Given the description of an element on the screen output the (x, y) to click on. 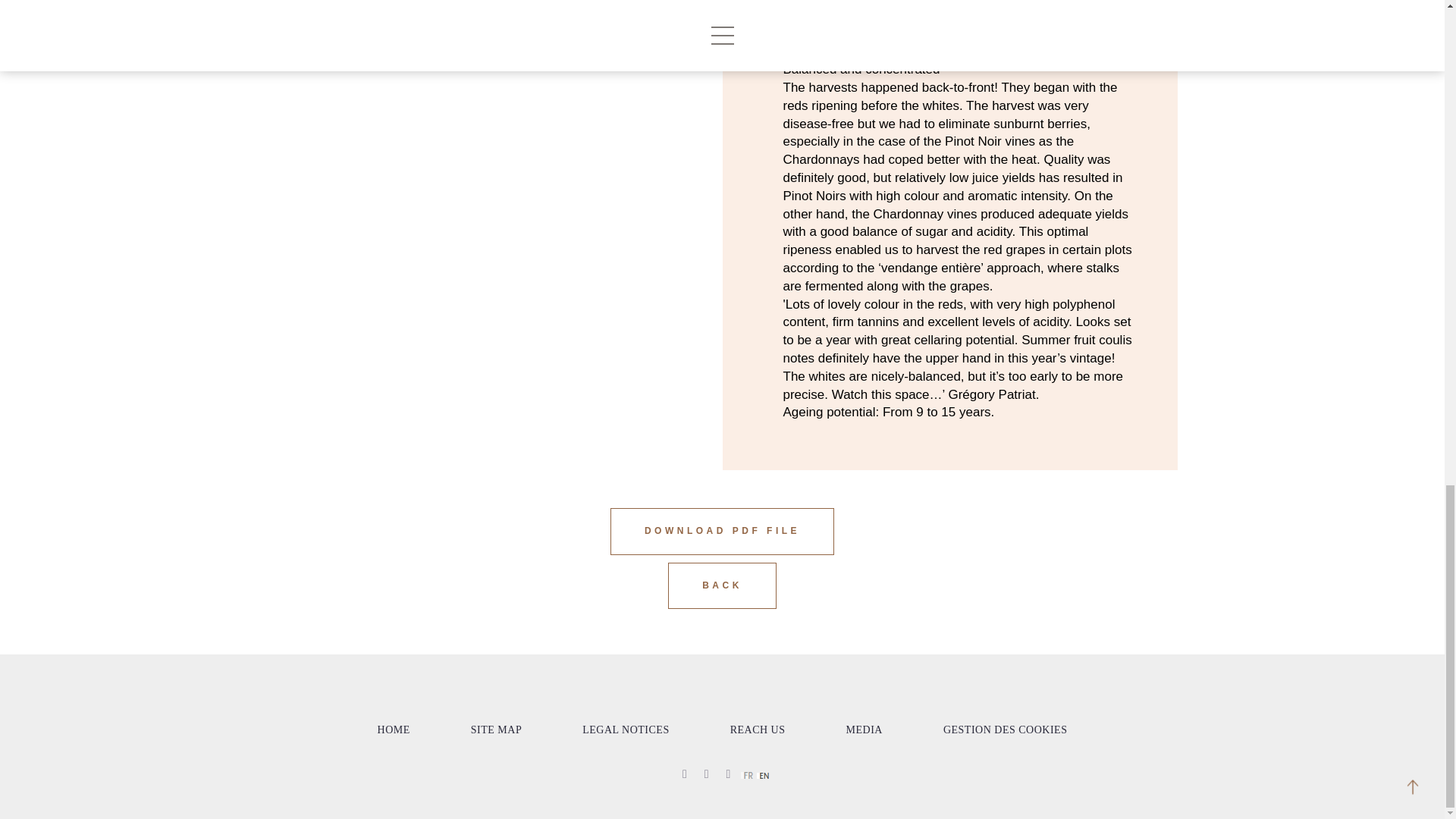
LEGAL NOTICES (625, 730)
GESTION DES COOKIES (1005, 730)
DOWNLOAD PDF FILE (722, 531)
English (762, 775)
BACK (722, 585)
